Given the description of an element on the screen output the (x, y) to click on. 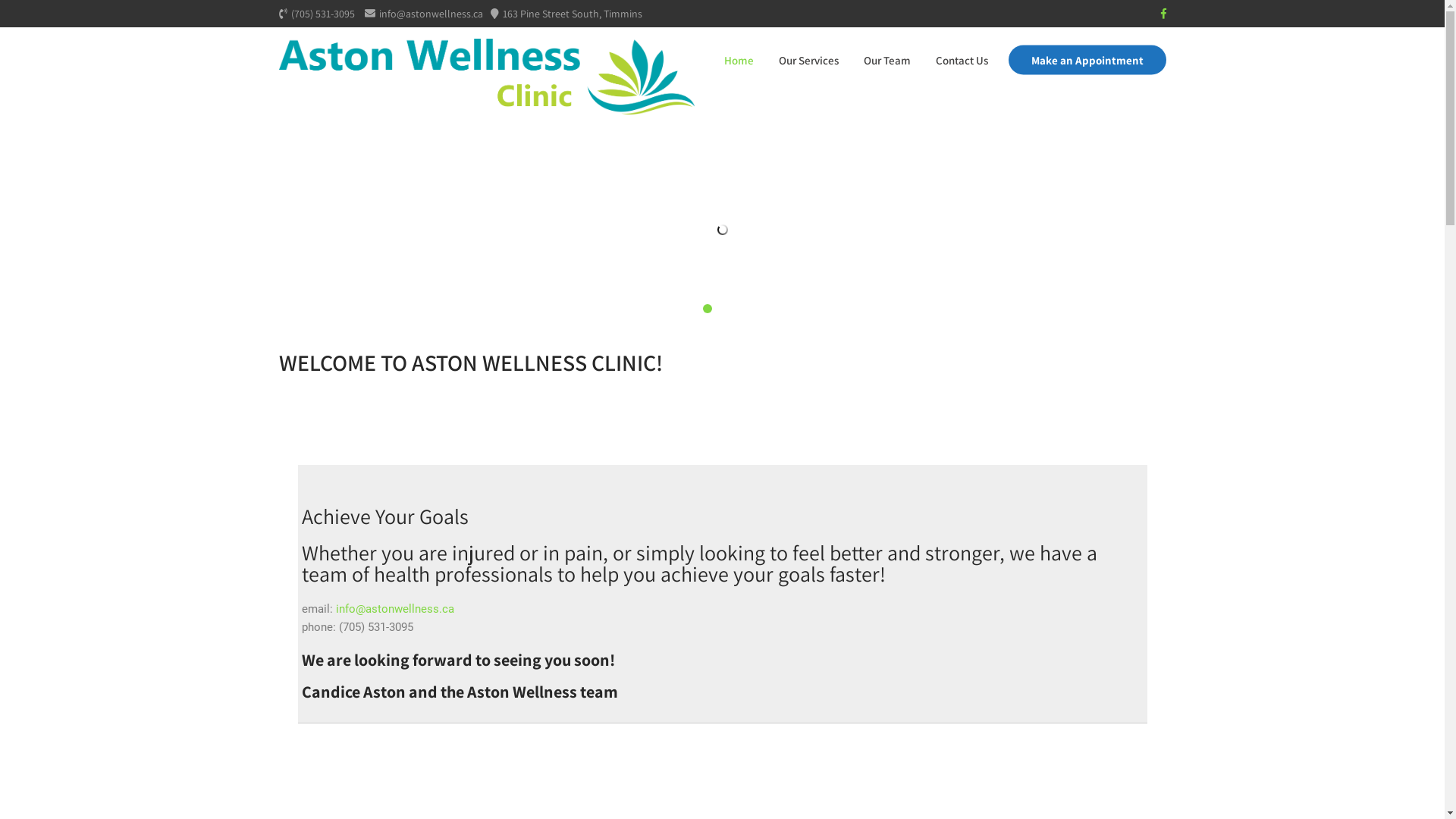
info@astonwellness.ca Element type: text (423, 13)
Our Team Element type: text (887, 60)
info@astonwellness.ca Element type: text (394, 608)
Contact Us Element type: text (960, 60)
Make an Appointment Element type: text (1087, 60)
1 Element type: text (694, 308)
5 Element type: text (745, 308)
4 Element type: text (732, 308)
3 Element type: text (719, 308)
Home Element type: text (738, 60)
2 Element type: text (707, 308)
Our Services Element type: text (808, 60)
fab fa-facebook-f Element type: hover (1162, 13)
